Given the description of an element on the screen output the (x, y) to click on. 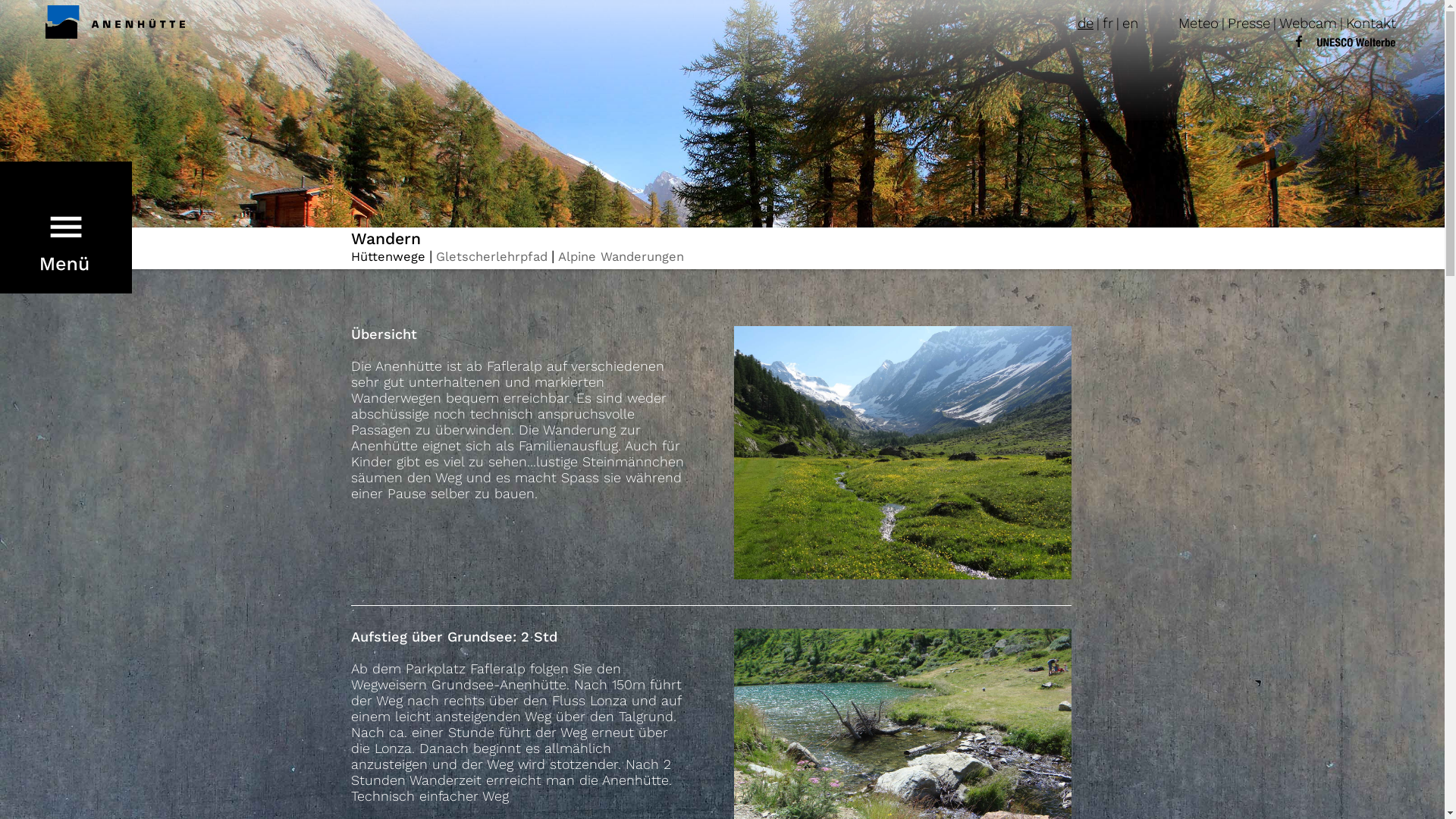
Presse Element type: text (1248, 23)
en Element type: text (1130, 23)
Kontakt Element type: text (1371, 23)
Gletscherlehrpfad Element type: text (490, 256)
de Element type: text (1085, 23)
Alpine Wanderungen Element type: text (621, 256)
Webcam Element type: text (1307, 23)
fr Element type: text (1107, 23)
Meteo Element type: text (1198, 23)
